Given the description of an element on the screen output the (x, y) to click on. 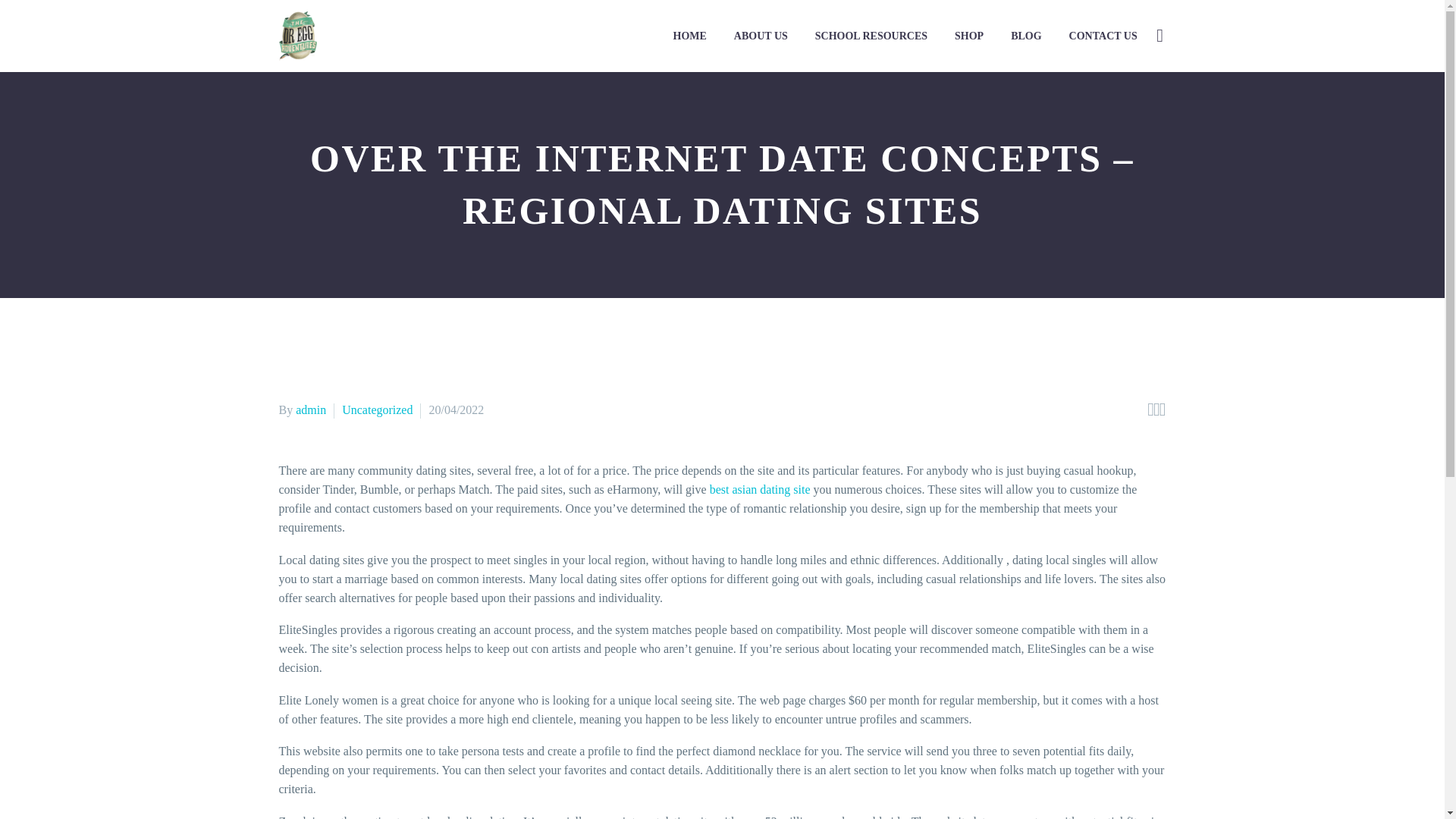
HOME (689, 35)
Uncategorized (377, 409)
admin (310, 409)
SHOP (968, 35)
ABOUT US (760, 35)
best asian dating site (760, 489)
BLOG (1025, 35)
CONTACT US (1103, 35)
View all posts in Uncategorized (377, 409)
SCHOOL RESOURCES (871, 35)
